Given the description of an element on the screen output the (x, y) to click on. 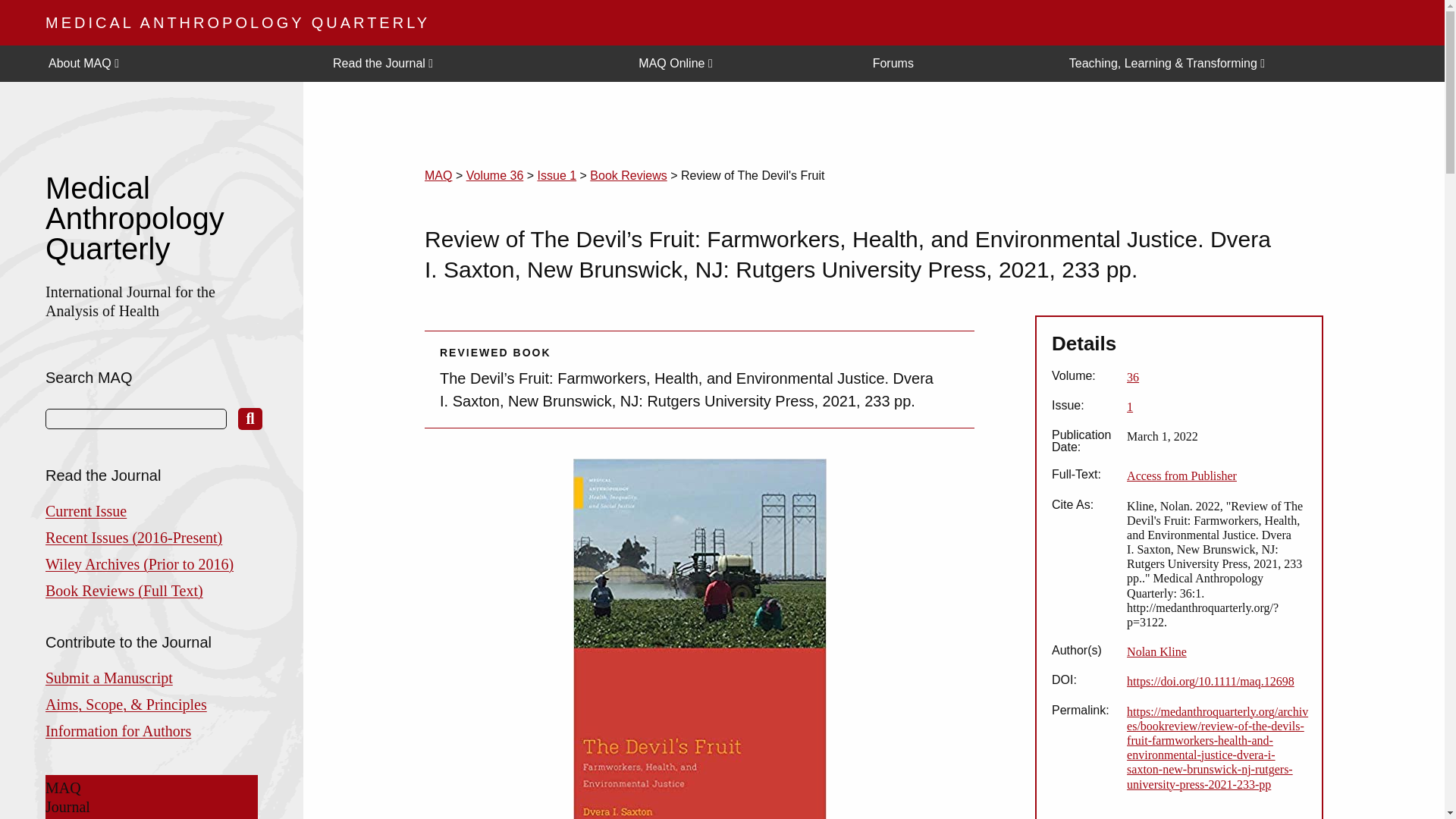
Read the Journal (473, 63)
MEDICAL ANTHROPOLOGY QUARTERLY (237, 22)
Search for: (136, 418)
About MAQ (178, 63)
